Given the description of an element on the screen output the (x, y) to click on. 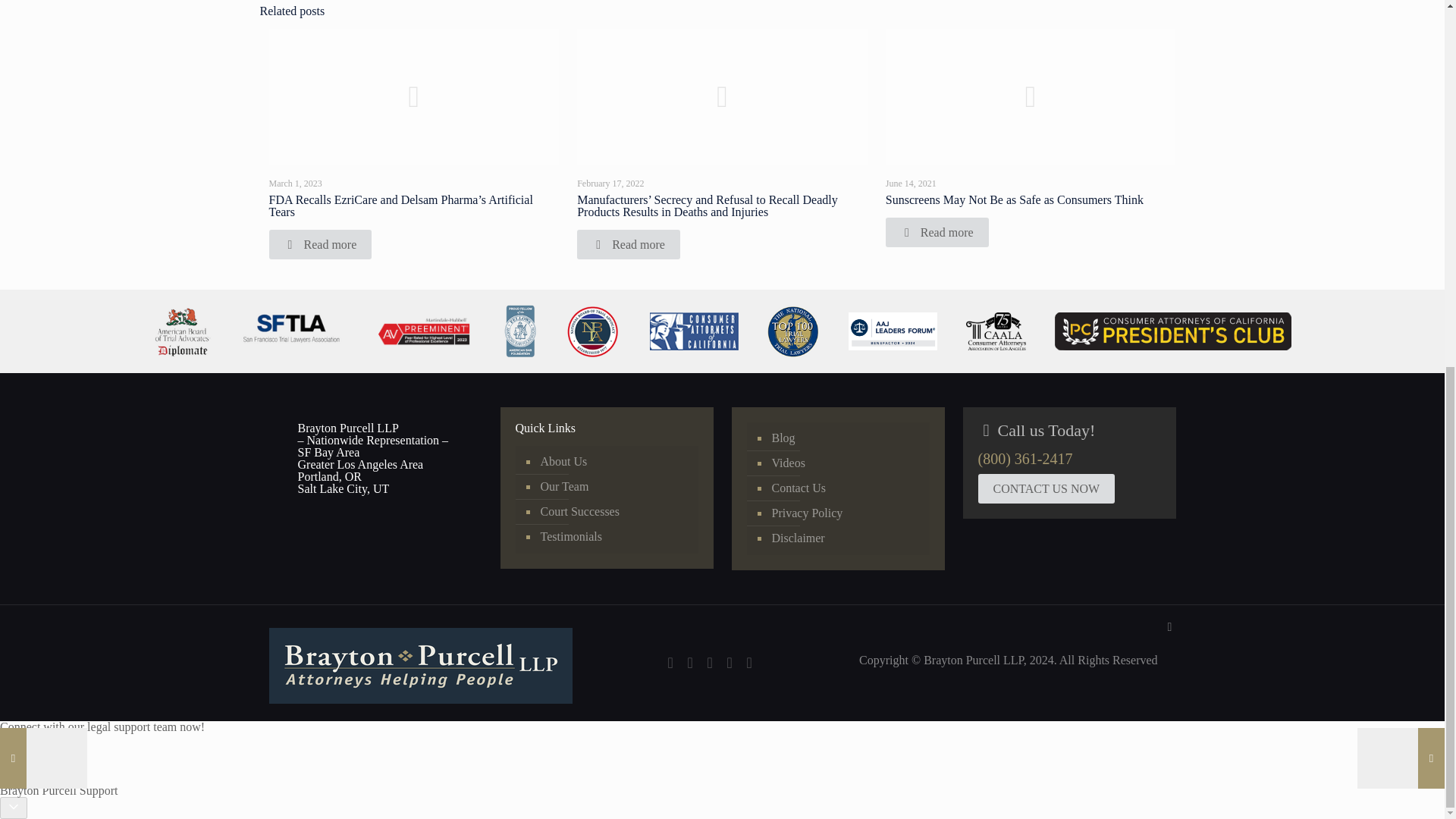
Pinterest (709, 664)
Instagram (729, 664)
LinkedIn (689, 664)
Facebook (670, 664)
